Given the description of an element on the screen output the (x, y) to click on. 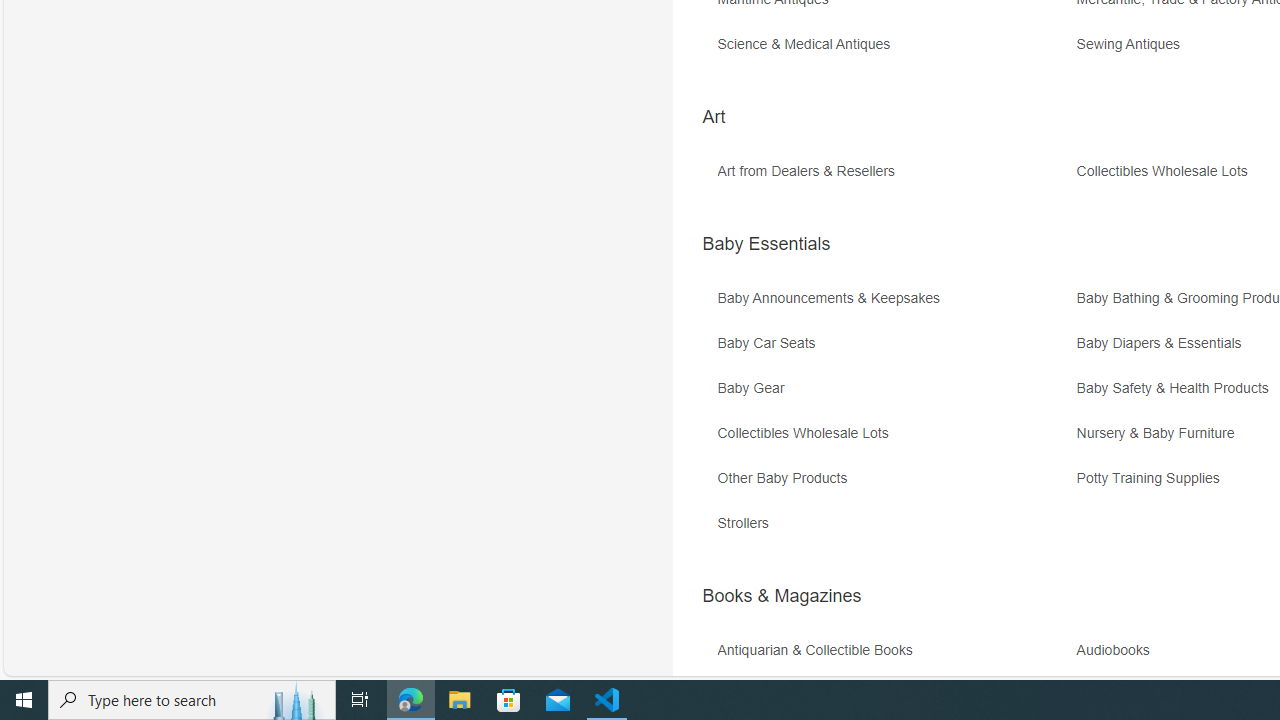
Baby Gear (755, 388)
Science & Medical Antiques (808, 43)
Potty Training Supplies (1153, 478)
Antiquarian & Collectible Books (894, 657)
Strollers (747, 523)
Collectibles Wholesale Lots (894, 440)
Art from Dealers & Resellers (810, 171)
Baby Announcements & Keepsakes (894, 305)
Art from Dealers & Resellers (894, 178)
Baby Announcements & Keepsakes (833, 298)
Strollers (894, 529)
Sewing Antiques (1133, 43)
